Given the description of an element on the screen output the (x, y) to click on. 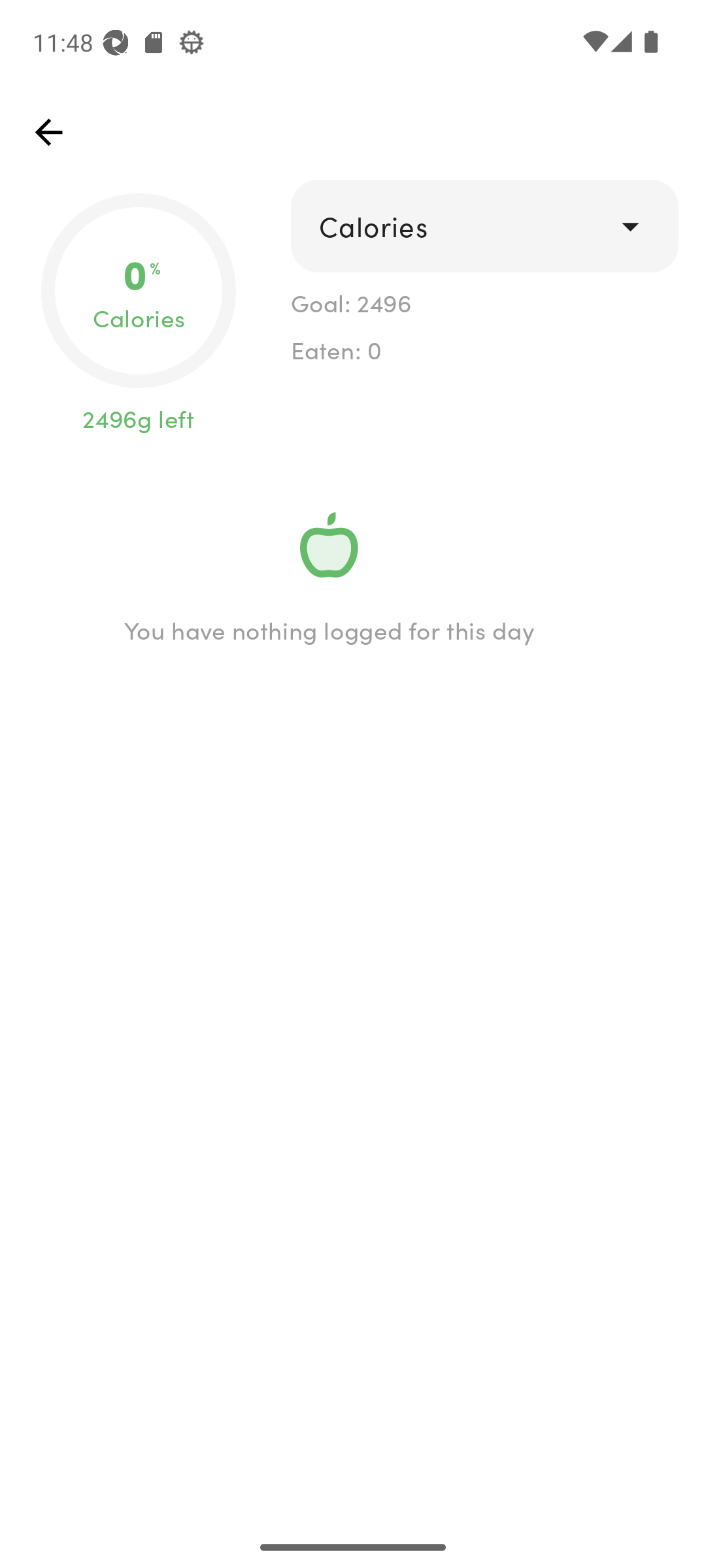
top_left_action (48, 132)
drop_down Calories (484, 226)
